Given the description of an element on the screen output the (x, y) to click on. 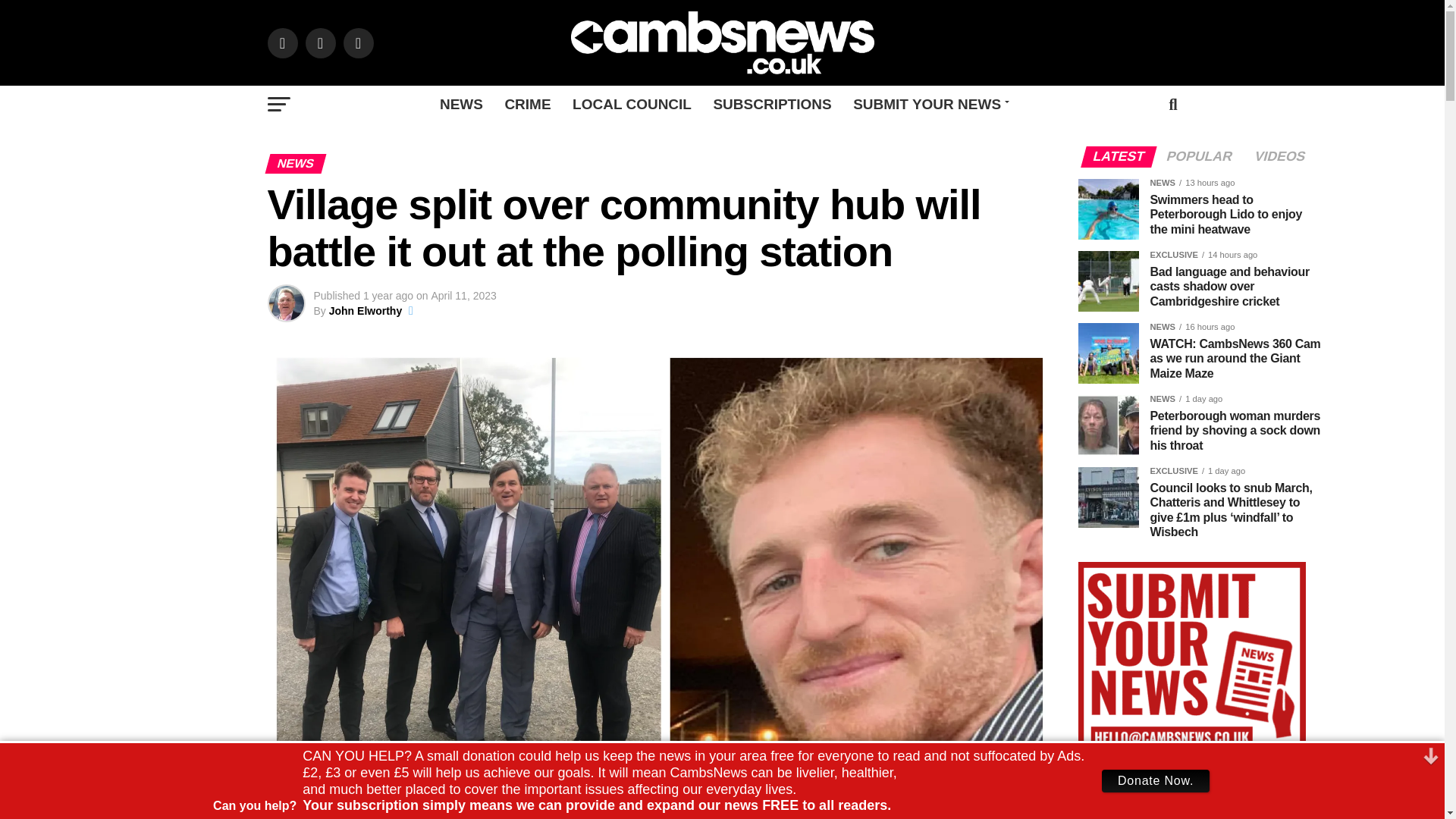
LOCAL COUNCIL (631, 104)
SUBMIT YOUR NEWS (928, 104)
SUBSCRIPTIONS (771, 104)
NEWS (461, 104)
CRIME (527, 104)
